Given the description of an element on the screen output the (x, y) to click on. 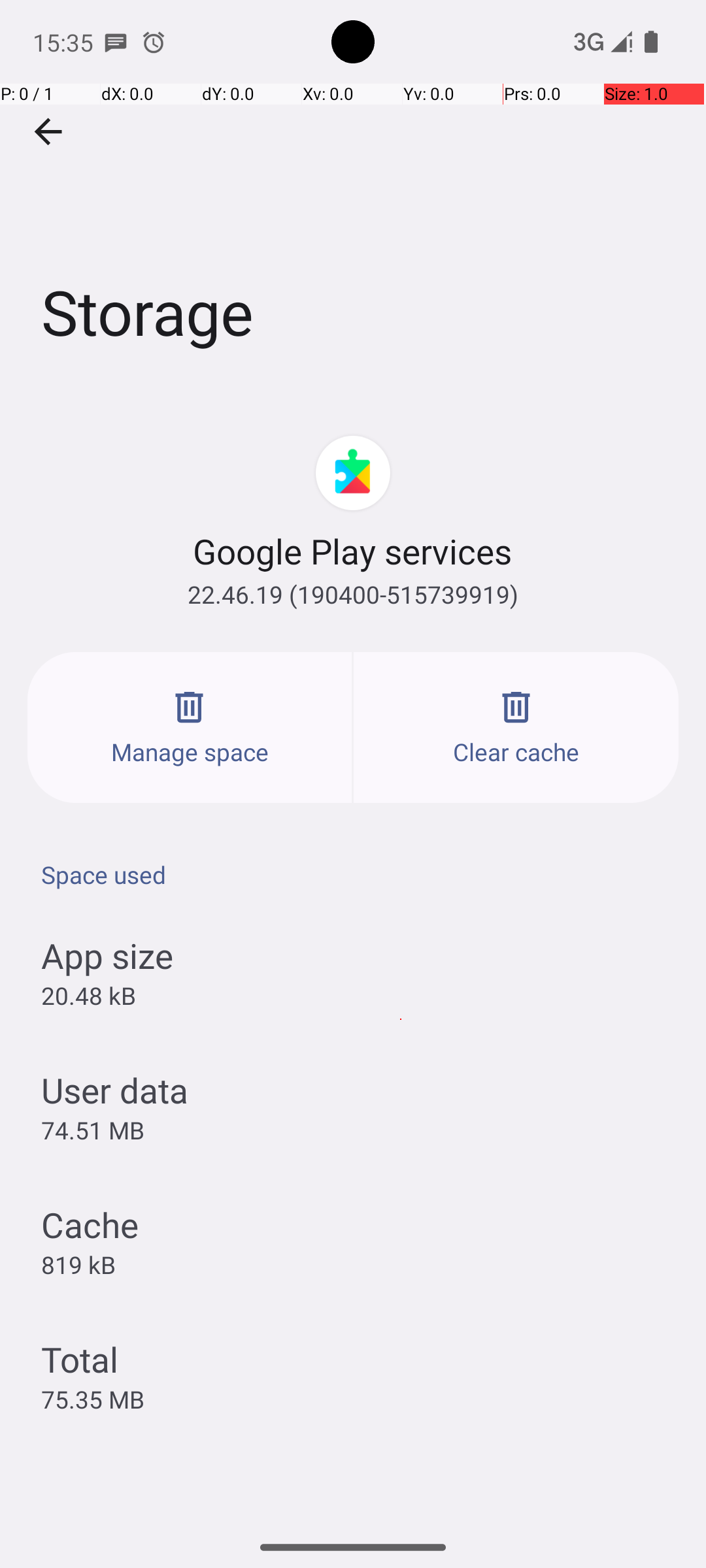
22.46.19 (190400-515739919) Element type: android.widget.TextView (352, 593)
Manage space Element type: android.widget.Button (189, 727)
20.48 kB Element type: android.widget.TextView (88, 995)
74.51 MB Element type: android.widget.TextView (92, 1129)
819 kB Element type: android.widget.TextView (78, 1264)
75.35 MB Element type: android.widget.TextView (92, 1398)
